Given the description of an element on the screen output the (x, y) to click on. 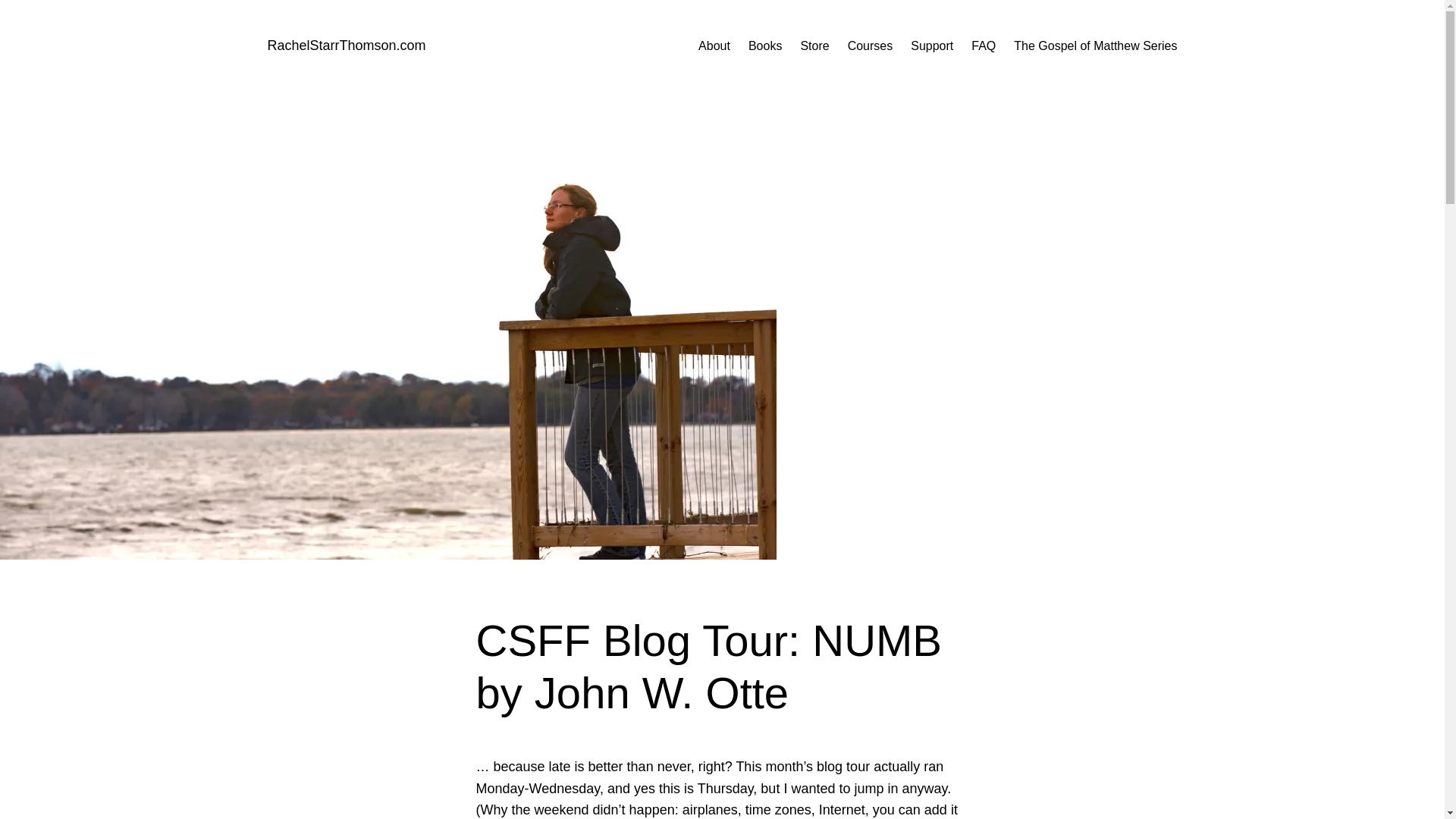
Books (764, 46)
Support (932, 46)
RachelStarrThomson.com (345, 45)
The Gospel of Matthew Series (1094, 46)
FAQ (983, 46)
Courses (870, 46)
About (714, 46)
Store (813, 46)
